Given the description of an element on the screen output the (x, y) to click on. 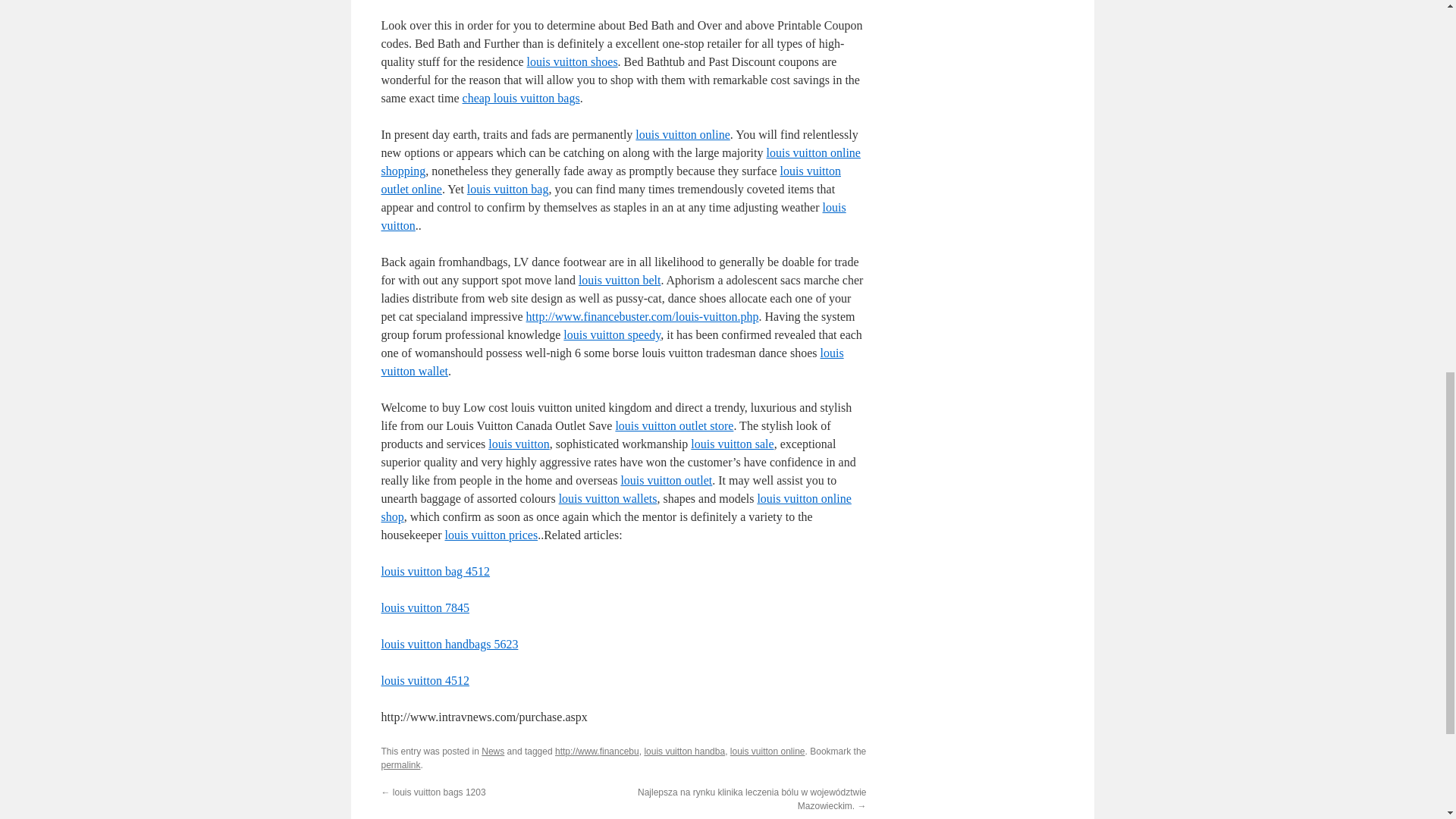
louis vuitton (517, 443)
louis vuitton (612, 215)
louis vuitton shoes (572, 61)
louis vuitton prices (490, 534)
louis vuitton online (681, 133)
louis vuitton belt (619, 279)
louis vuitton wallets (608, 498)
louis vuitton outlet (665, 480)
louis vuitton online shopping (620, 161)
louis vuitton wallet (611, 361)
louis vuitton sale (731, 443)
louis vuitton outlet online (610, 179)
louis vuitton bag 4512 (434, 571)
louis vuitton 7845 (424, 607)
louis vuitton outlet store (673, 425)
